Given the description of an element on the screen output the (x, y) to click on. 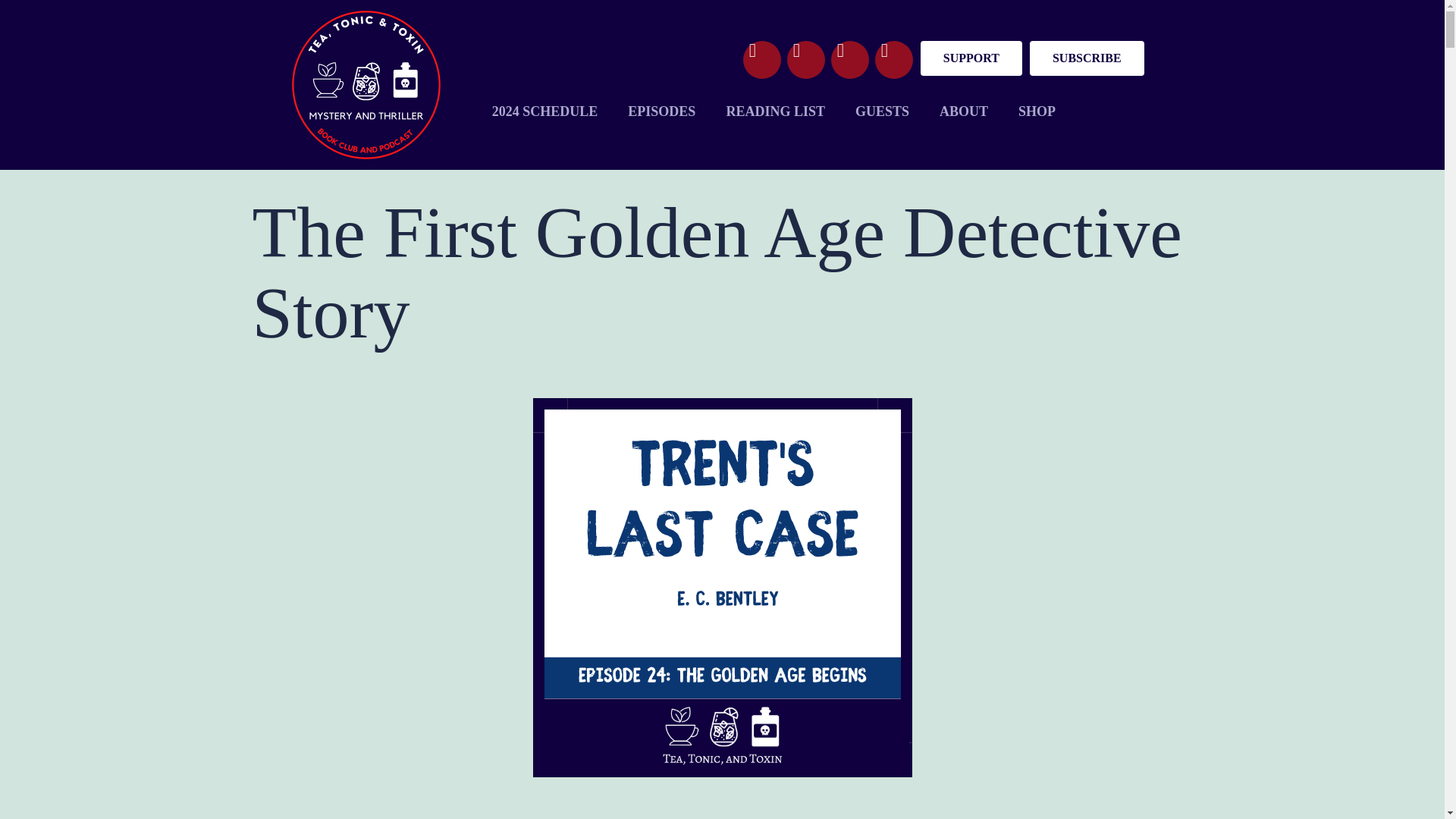
READING LIST (775, 111)
ABOUT (963, 111)
GUESTS (882, 111)
Tea Tonic and Toxin Book Club and Podcast (365, 84)
SHOP (1036, 111)
SUBSCRIBE (1086, 58)
SUPPORT (971, 58)
2024 SCHEDULE (544, 111)
EPISODES (661, 111)
